Given the description of an element on the screen output the (x, y) to click on. 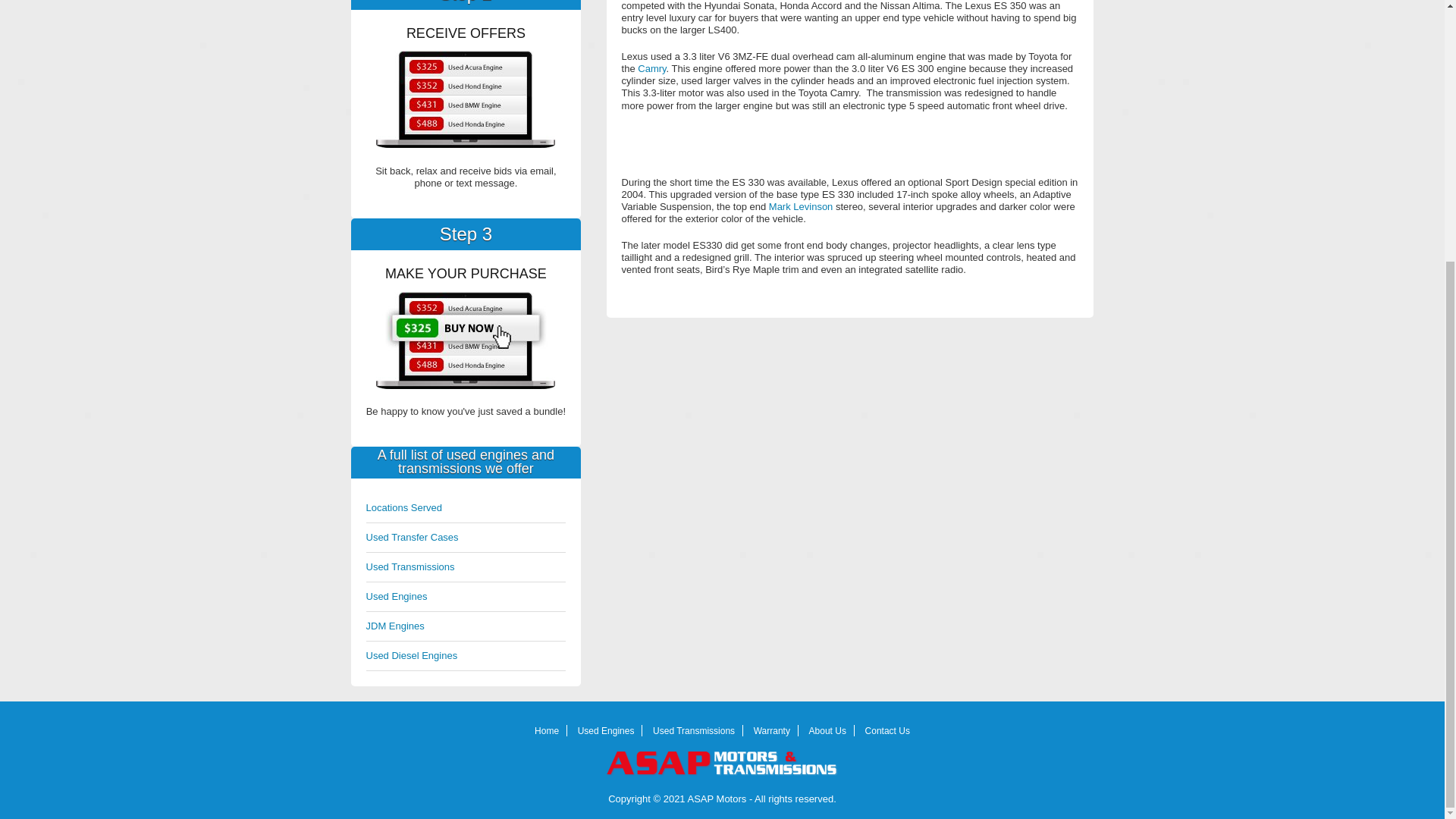
RECEIVE OFFERS (464, 99)
RECEIVE OFFERS (464, 339)
